Given the description of an element on the screen output the (x, y) to click on. 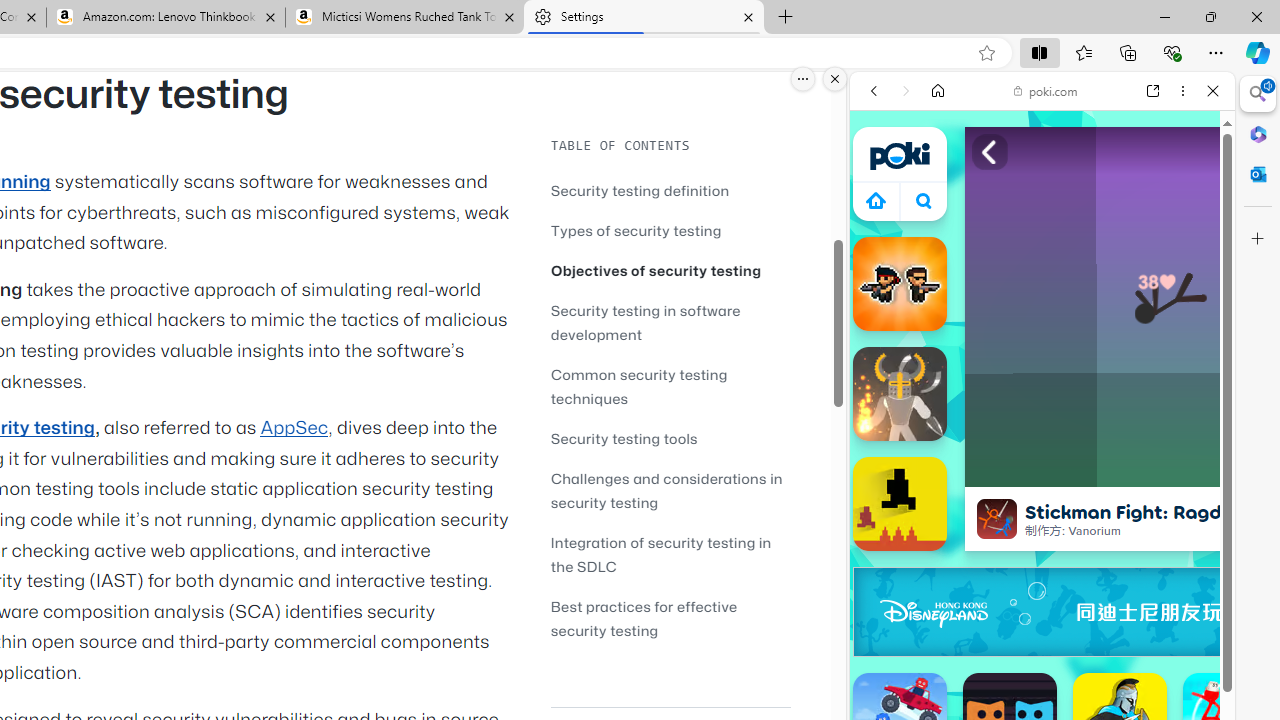
Objectives of security testing (655, 270)
Preferences (1189, 228)
Poki (1034, 288)
Sports Games (1042, 665)
AppSec (293, 428)
Io Games (1042, 616)
Car Games (1042, 470)
Search Filter, WEB (882, 228)
Search Filter, VIDEOS (1006, 228)
Search the web (1051, 137)
